Given the description of an element on the screen output the (x, y) to click on. 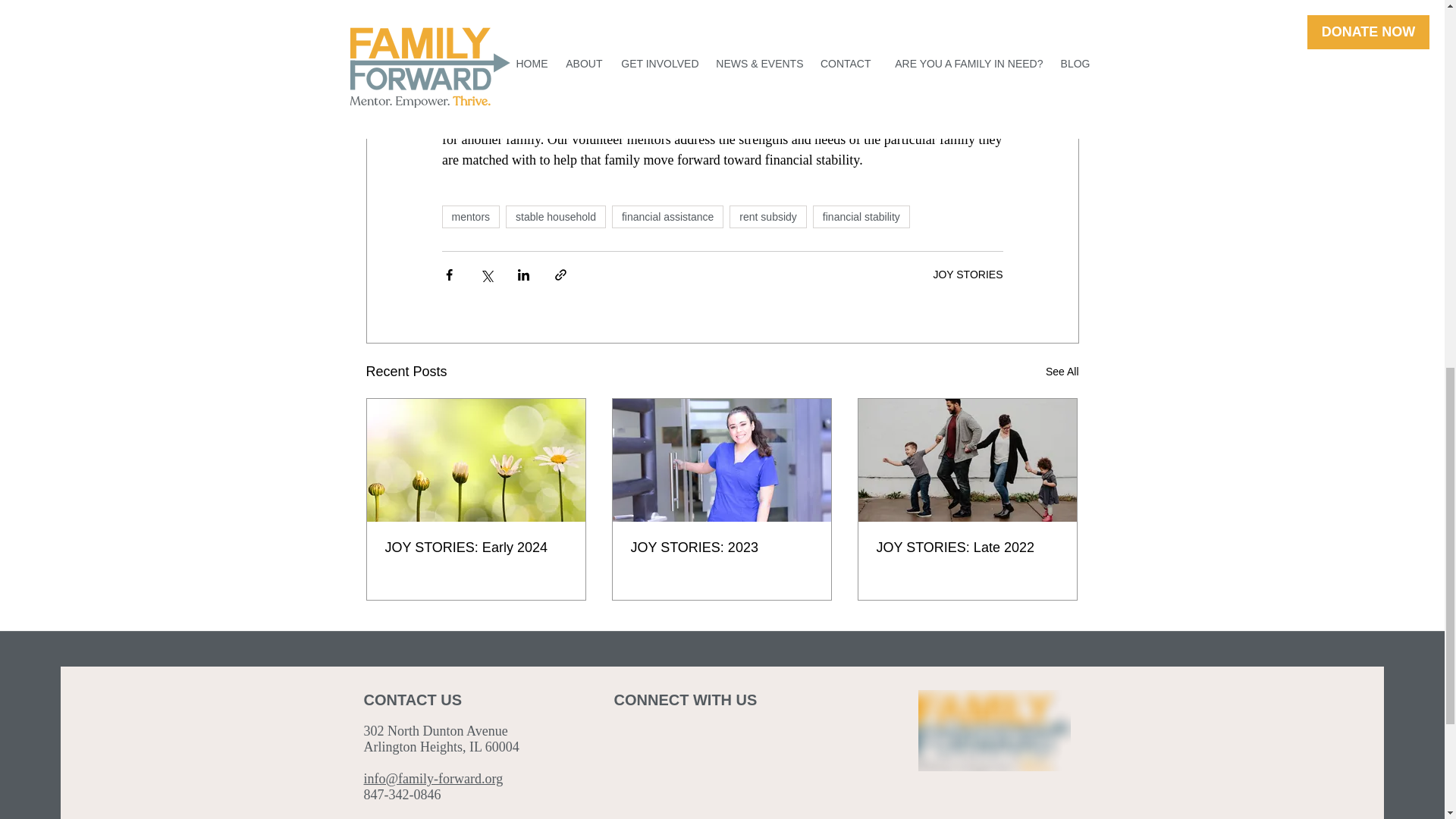
financial assistance (667, 216)
stable household (555, 216)
mentors (470, 216)
